Given the description of an element on the screen output the (x, y) to click on. 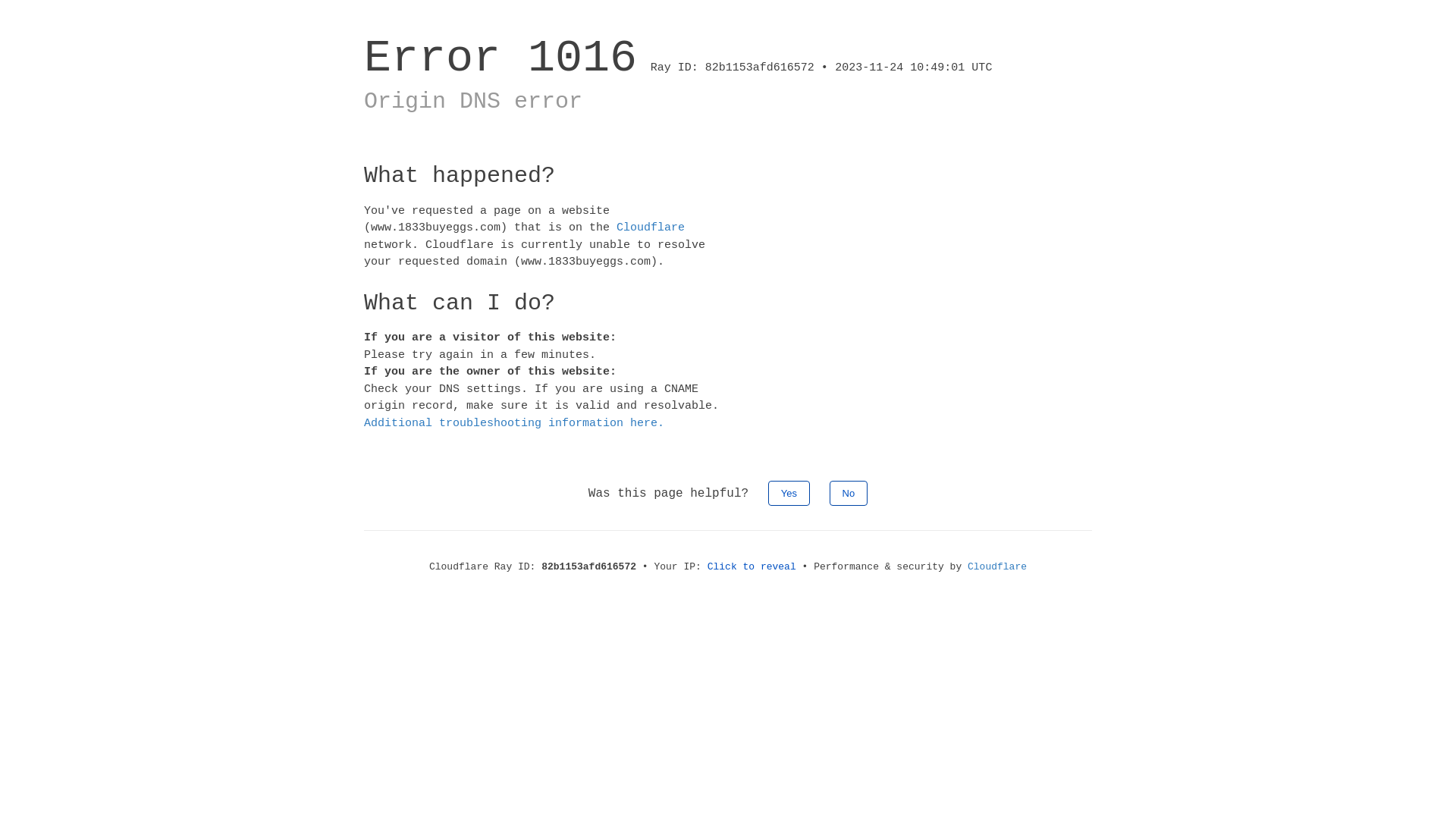
Cloudflare Element type: text (996, 566)
No Element type: text (848, 492)
Cloudflare Element type: text (650, 227)
Click to reveal Element type: text (751, 566)
Yes Element type: text (788, 492)
Additional troubleshooting information here. Element type: text (514, 423)
